Given the description of an element on the screen output the (x, y) to click on. 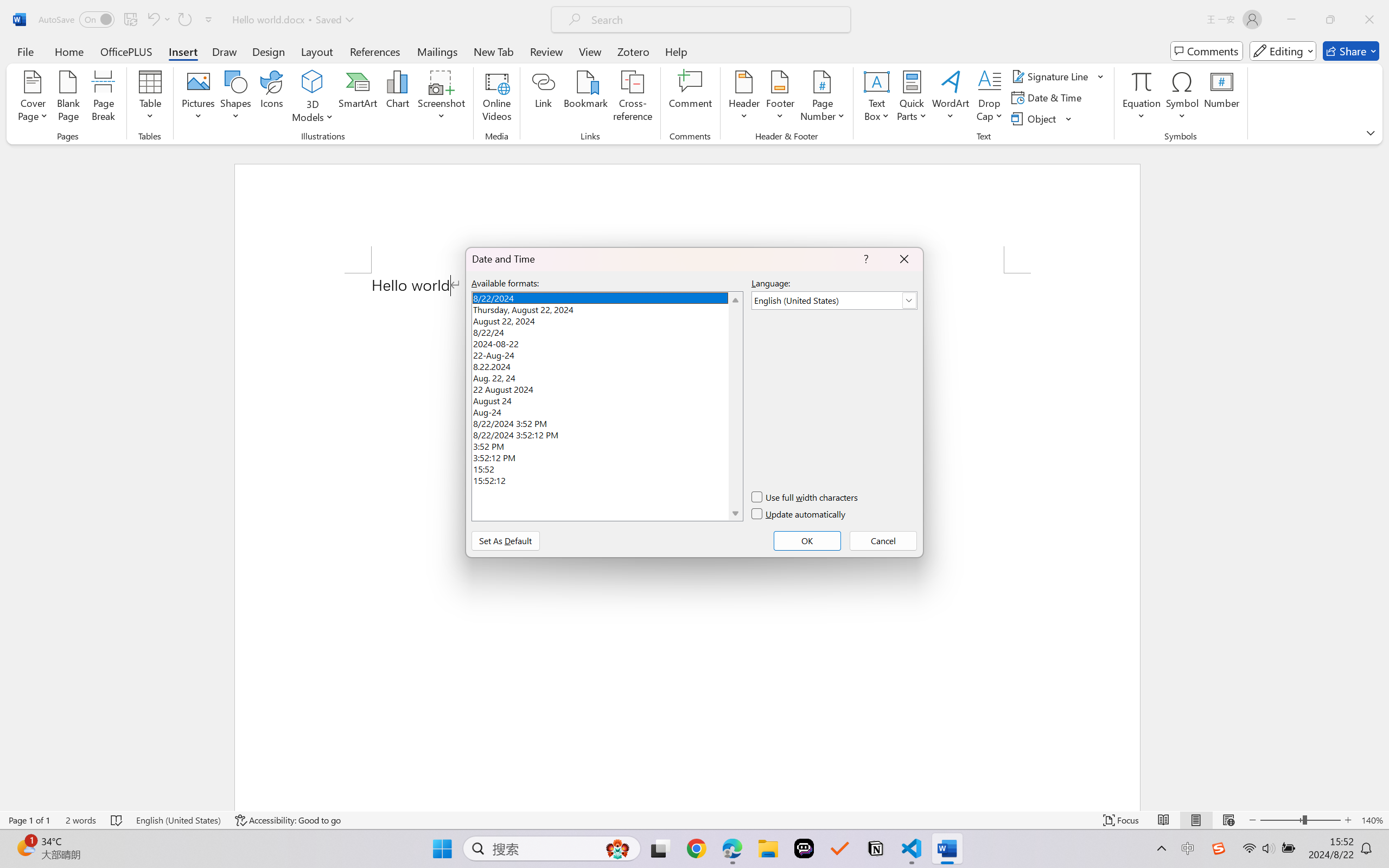
Check Accessibility (91, 51)
Mark All as Read (319, 62)
Next (619, 62)
Check Accessibility (91, 62)
